Given the description of an element on the screen output the (x, y) to click on. 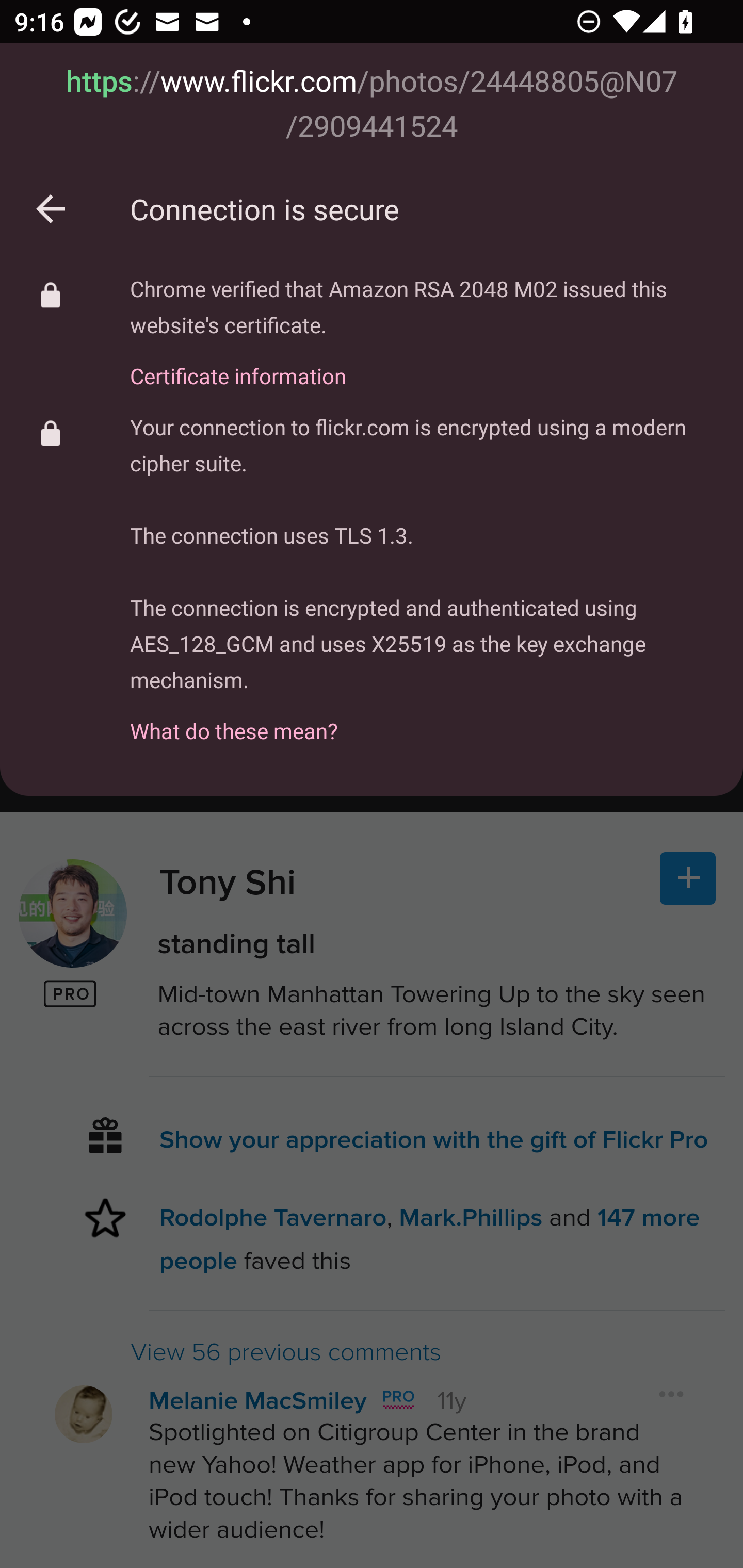
Back (50, 209)
Certificate information (422, 364)
What do these mean? (422, 719)
